Given the description of an element on the screen output the (x, y) to click on. 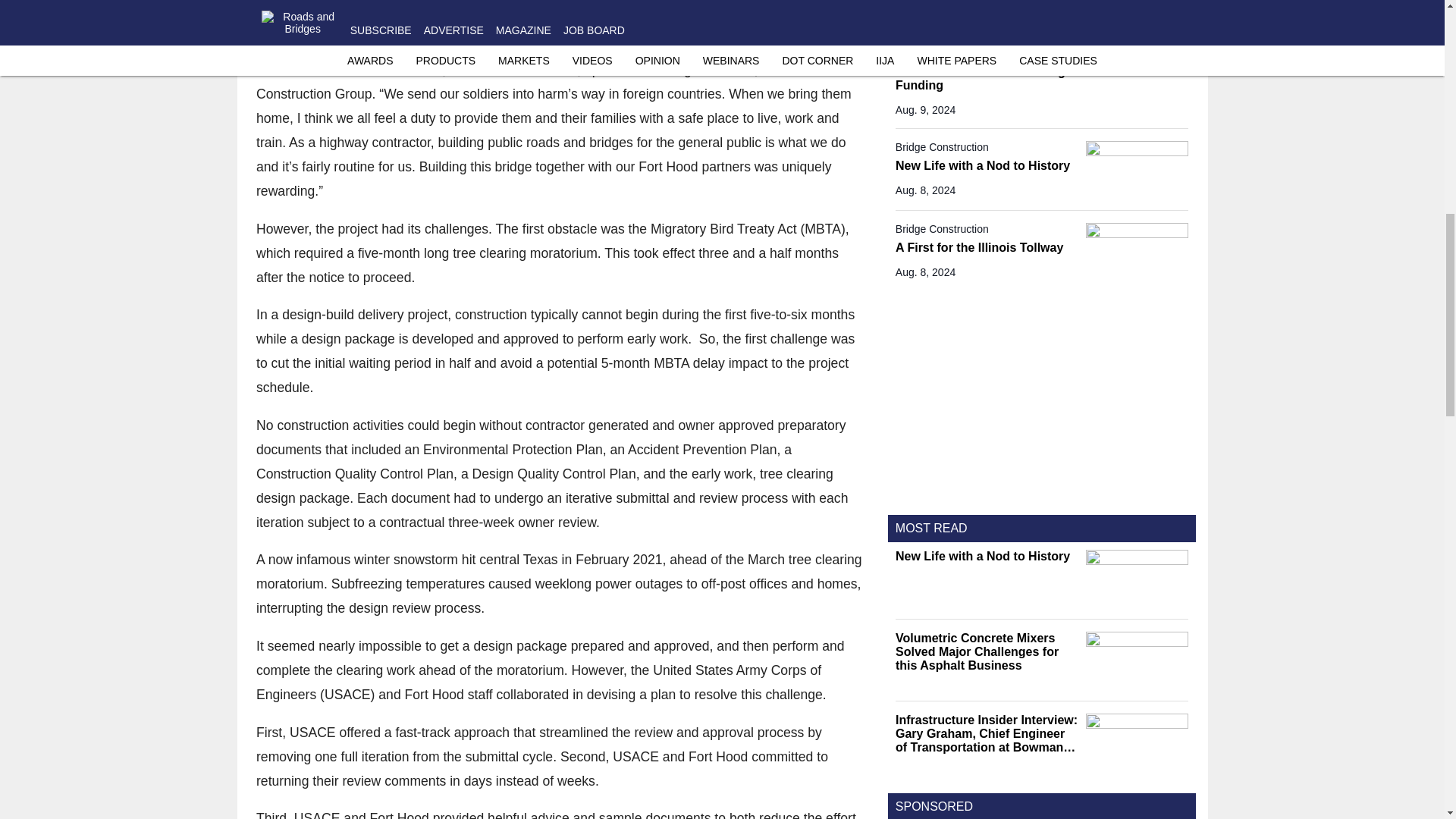
Bridge Construction (986, 55)
LATEST IN BRIDGE CONSTRUCTION (1000, 24)
Officials Tout Interstate Bridge Funding (986, 78)
